Given the description of an element on the screen output the (x, y) to click on. 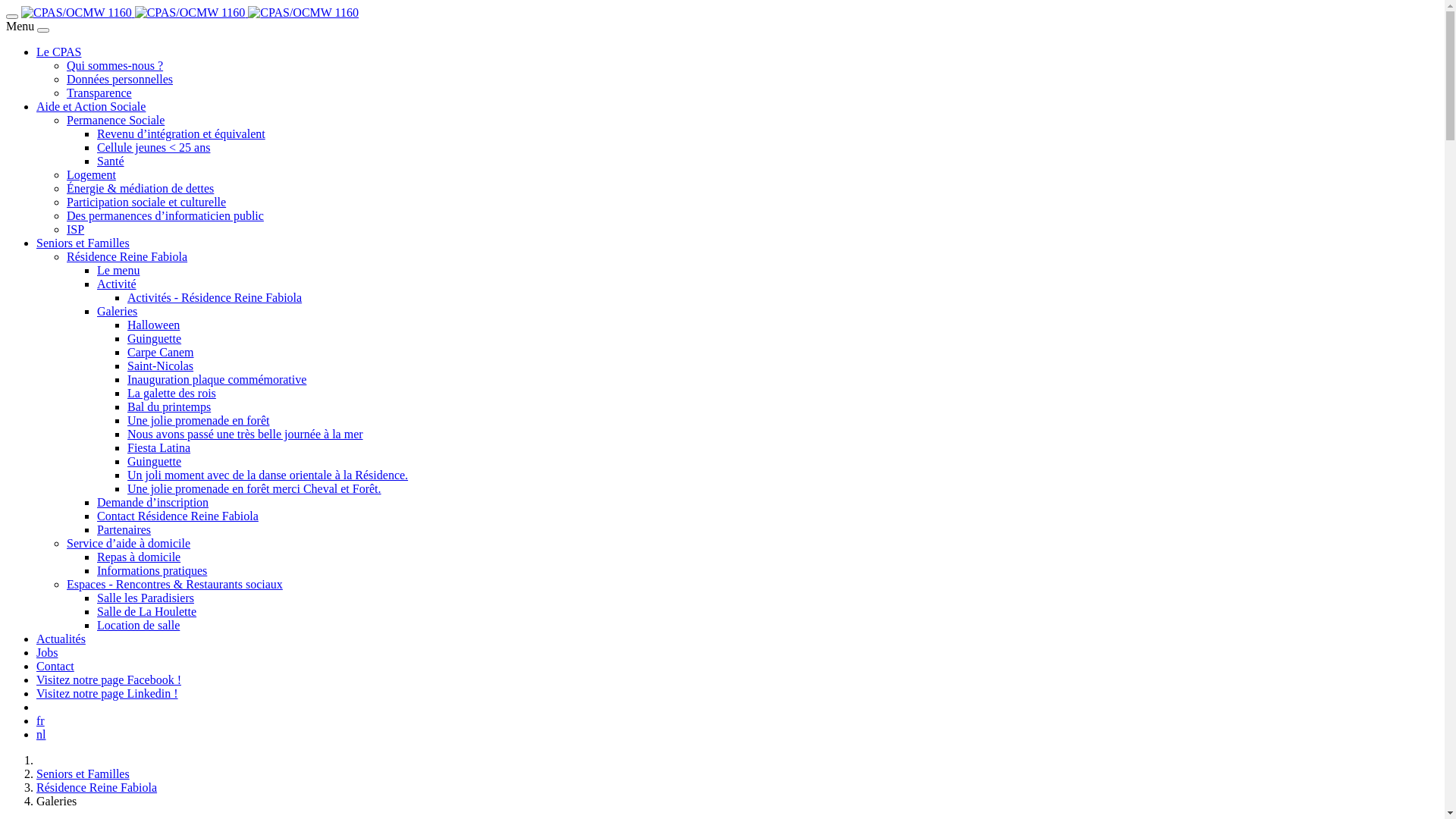
Participation sociale et culturelle Element type: text (145, 201)
fr Element type: text (40, 720)
nl Element type: text (40, 734)
Seniors et Familles Element type: text (82, 242)
Guinguette Element type: text (154, 461)
Halloween Element type: text (153, 324)
Contact Element type: text (55, 665)
Carpe Canem Element type: text (160, 351)
Espaces - Rencontres & Restaurants sociaux Element type: text (174, 583)
Location de salle Element type: text (138, 624)
Cellule jeunes < 25 ans Element type: text (153, 147)
ISP Element type: text (75, 228)
Aide et Action Sociale Element type: text (90, 106)
Guinguette Element type: text (154, 338)
Visitez notre page Linkedin ! Element type: text (107, 693)
Visitez notre page Facebook ! Element type: text (108, 679)
Salle de La Houlette Element type: text (146, 611)
Logement Element type: text (91, 174)
Salle les Paradisiers Element type: text (145, 597)
Informations pratiques Element type: text (152, 570)
Qui sommes-nous ? Element type: text (114, 65)
Bal du printemps Element type: text (168, 406)
La galette des rois Element type: text (171, 392)
Le menu Element type: text (118, 269)
Transparence Element type: text (98, 92)
Jobs Element type: text (46, 652)
Le CPAS Element type: text (58, 51)
Saint-Nicolas Element type: text (160, 365)
Galeries Element type: text (117, 310)
Seniors et Familles Element type: text (82, 773)
Permanence Sociale Element type: text (115, 119)
Partenaires Element type: text (123, 529)
Fiesta Latina Element type: text (158, 447)
